Given the description of an element on the screen output the (x, y) to click on. 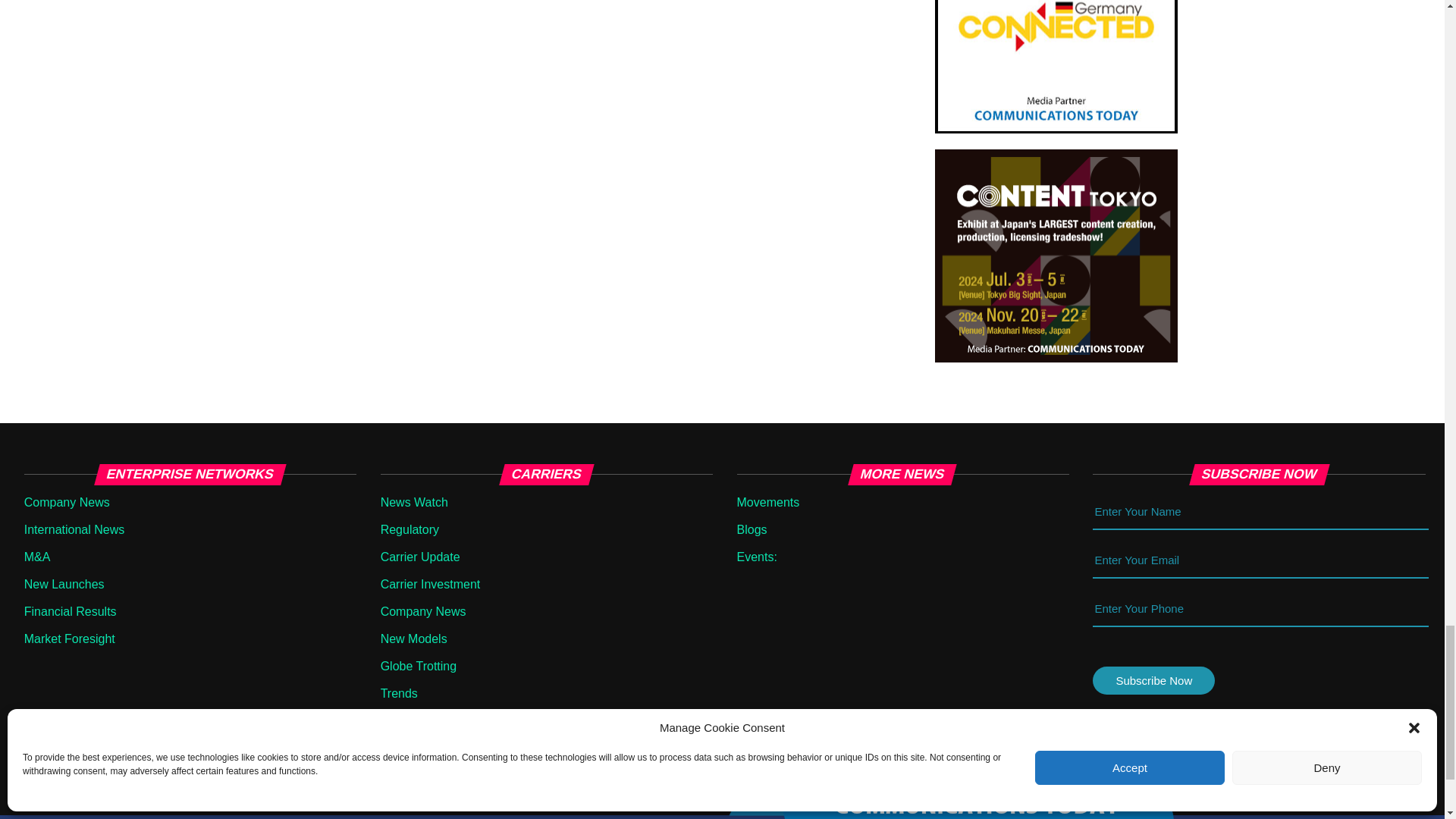
Subscribe Now (1153, 680)
